Given the description of an element on the screen output the (x, y) to click on. 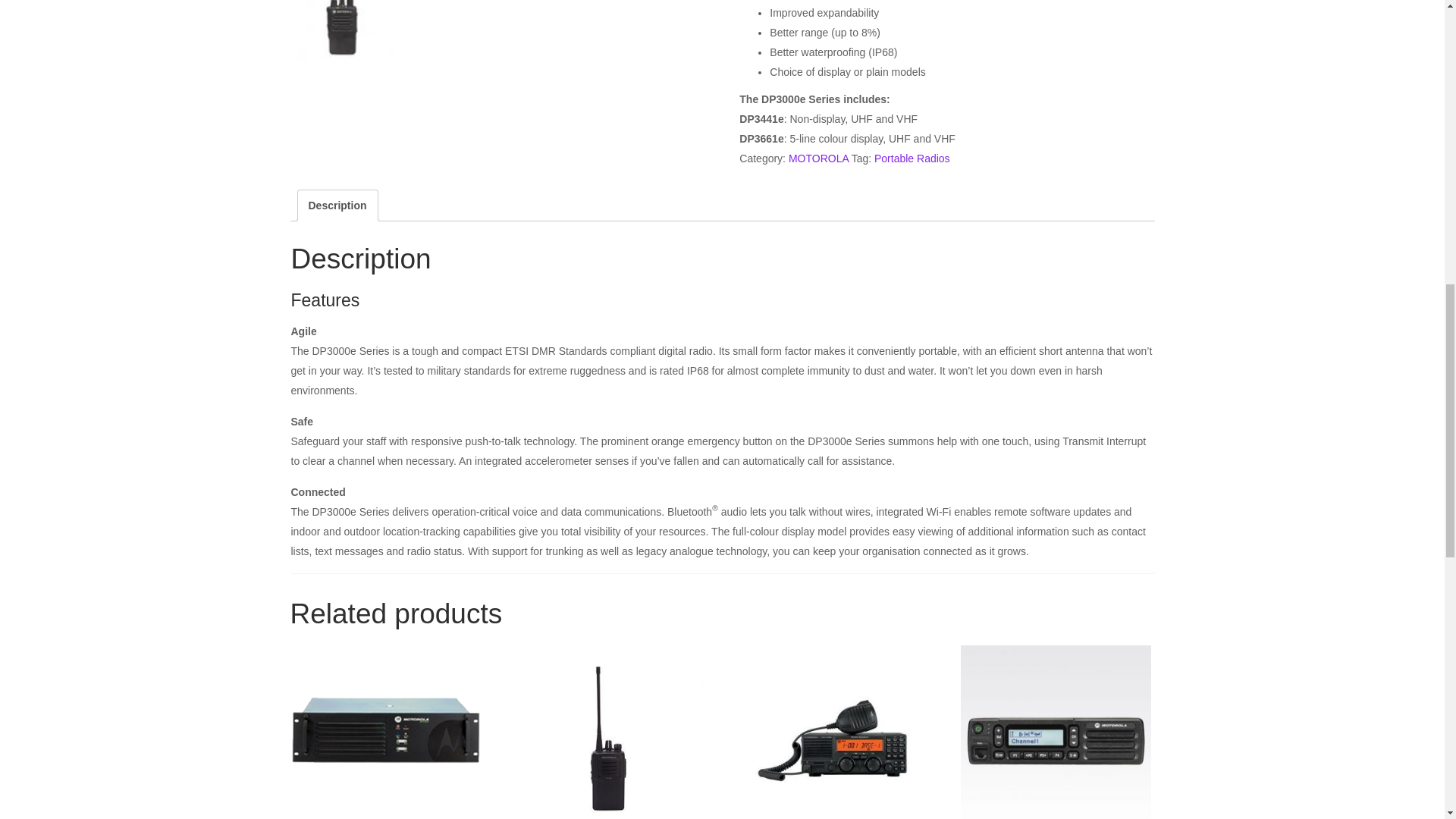
MOTOROLA (818, 158)
Portable Radios (912, 158)
VX-260 Series Portable Analogue Radios (608, 732)
Description (336, 205)
DR 3000 Repeater (384, 732)
DM2000 Digital Mobile Radio Series (1055, 732)
